Given the description of an element on the screen output the (x, y) to click on. 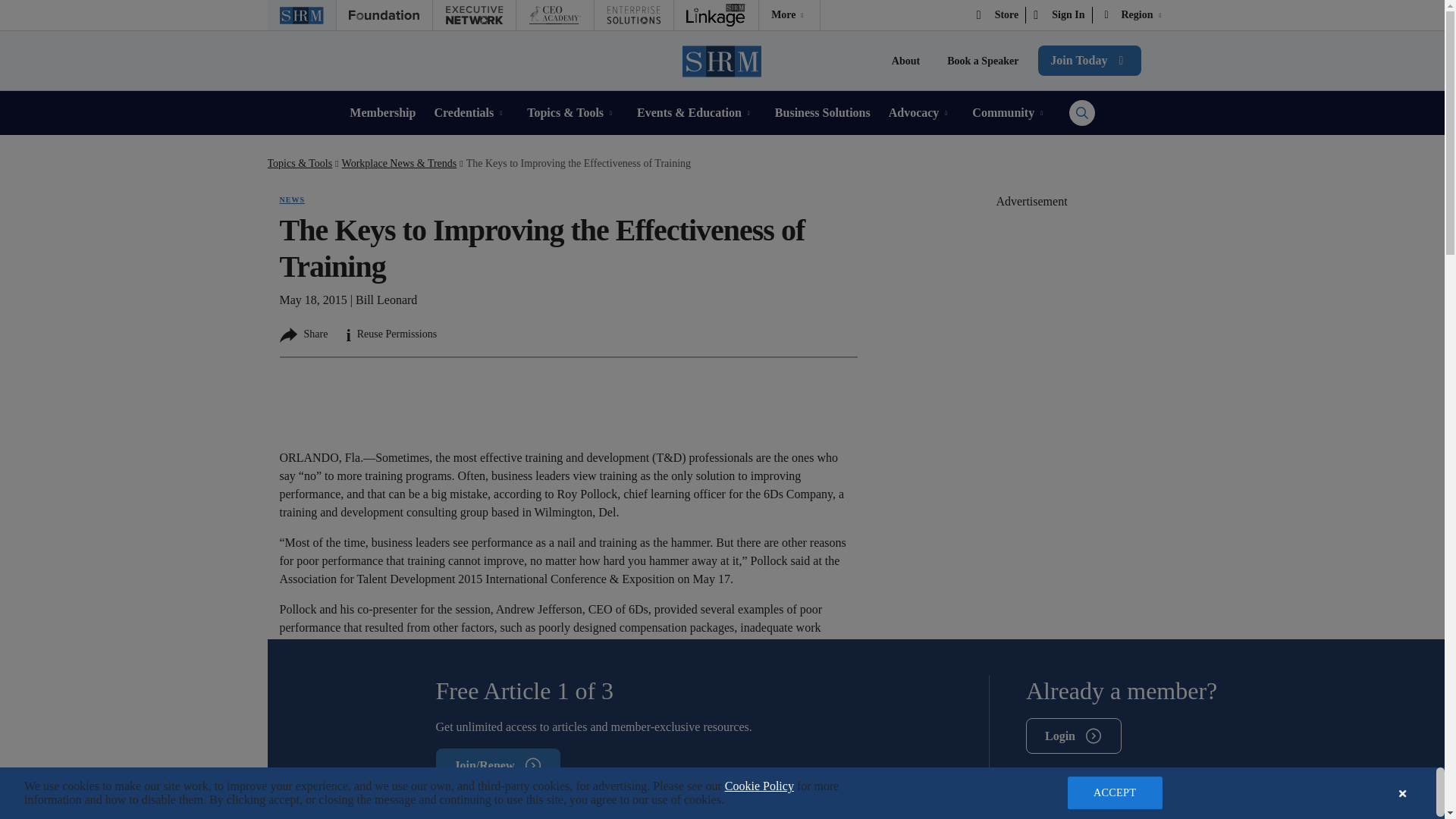
Sign In (1059, 15)
CEO Academy (553, 15)
store (997, 15)
sign in (1059, 15)
SHRM (722, 60)
Join Today (1089, 60)
Membership (381, 112)
logo image (788, 15)
Credentials (470, 112)
Store (997, 15)
